Given the description of an element on the screen output the (x, y) to click on. 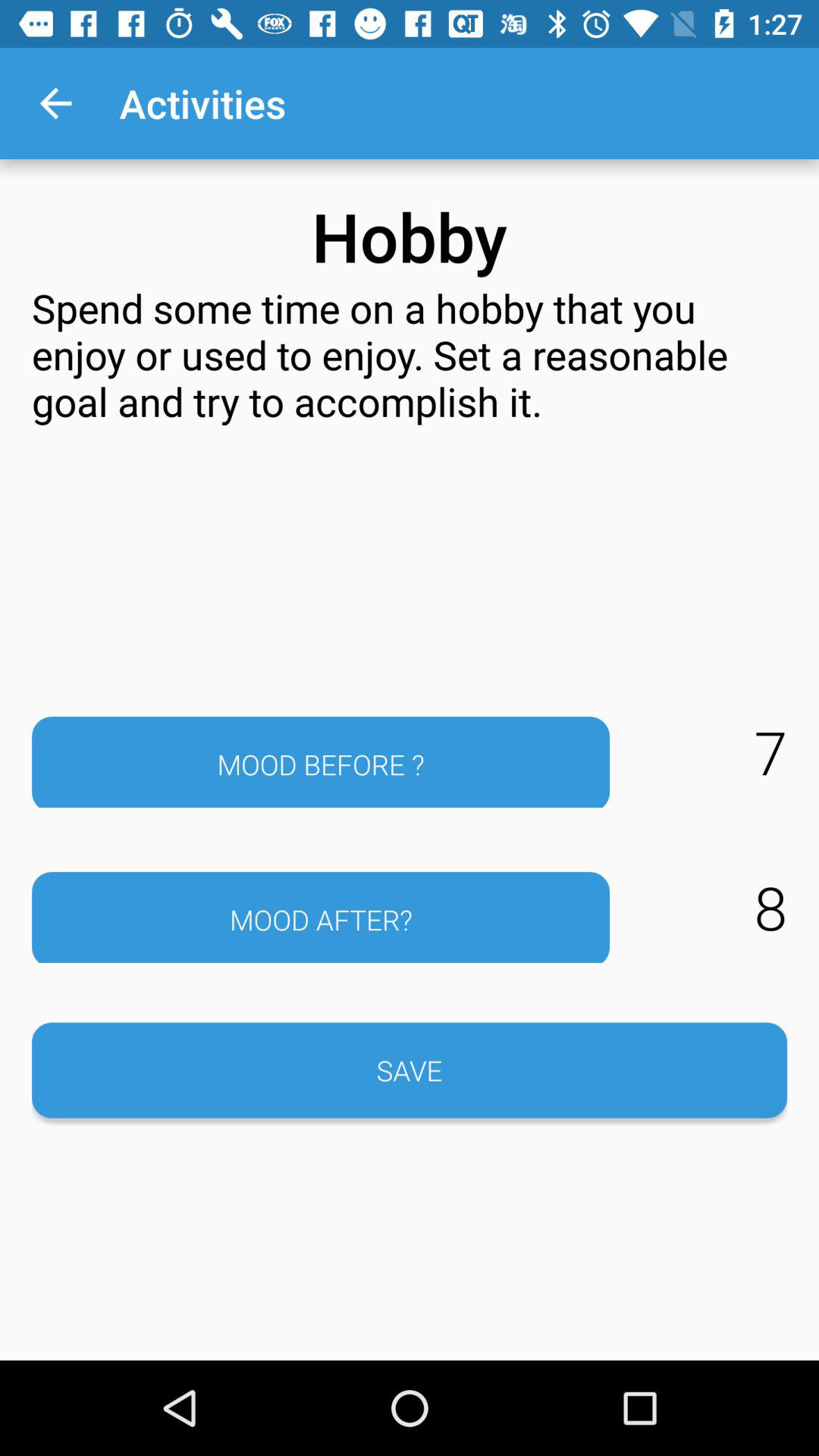
press button below the mood after? (409, 1070)
